Given the description of an element on the screen output the (x, y) to click on. 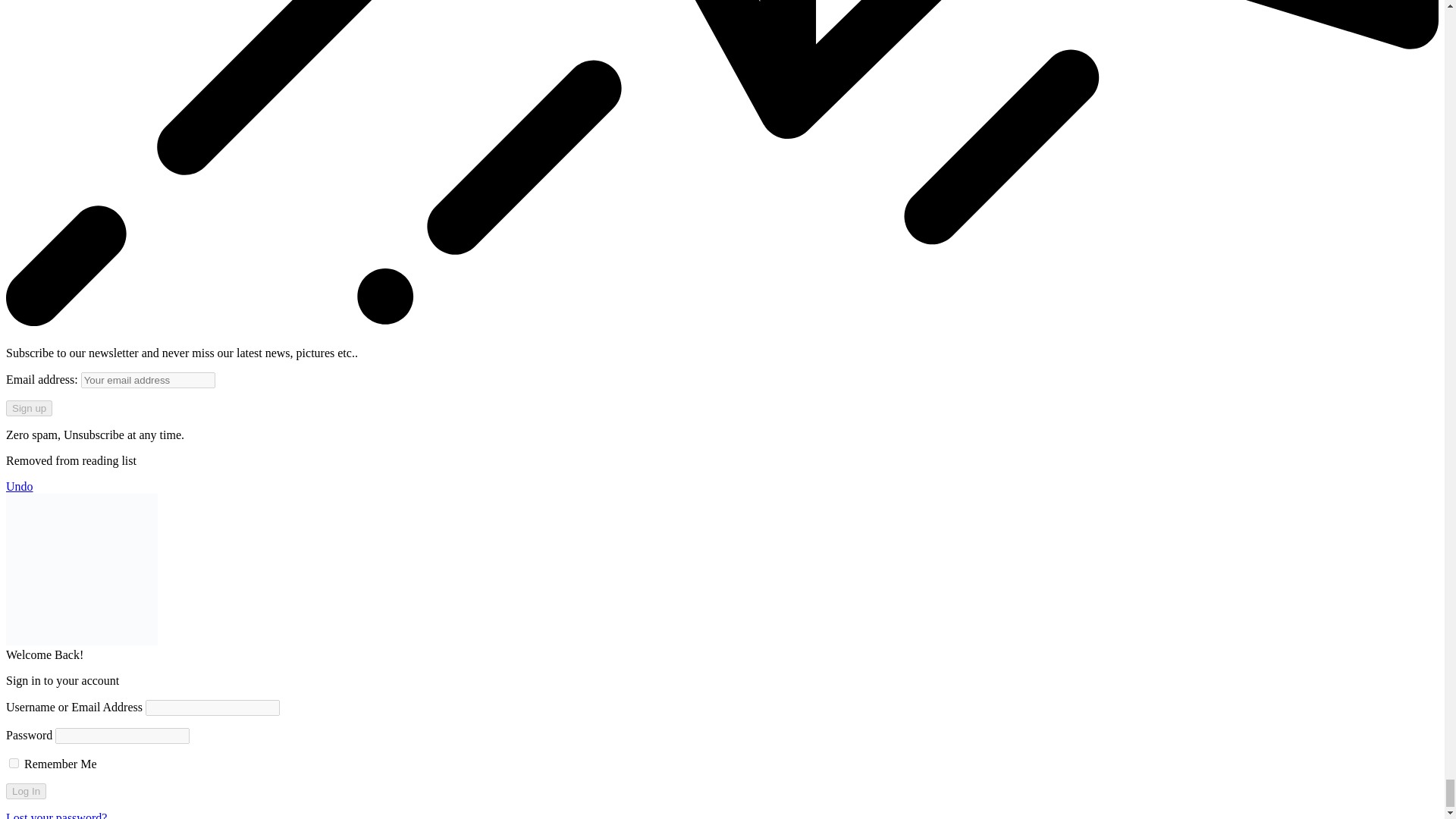
Log In (25, 790)
forever (13, 763)
Sign up (28, 408)
